Given the description of an element on the screen output the (x, y) to click on. 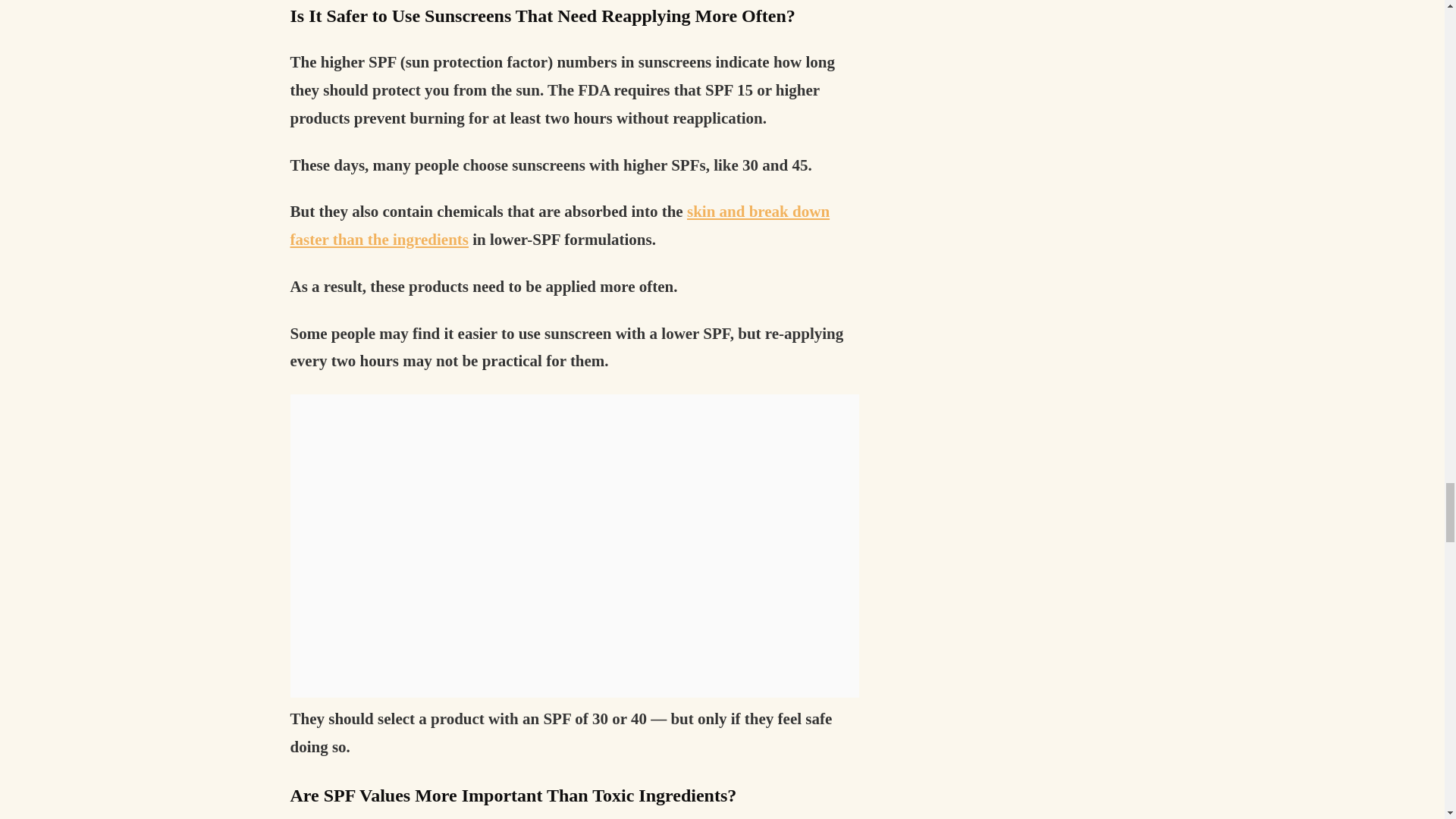
skin and break down faster than the ingredients (559, 225)
